Given the description of an element on the screen output the (x, y) to click on. 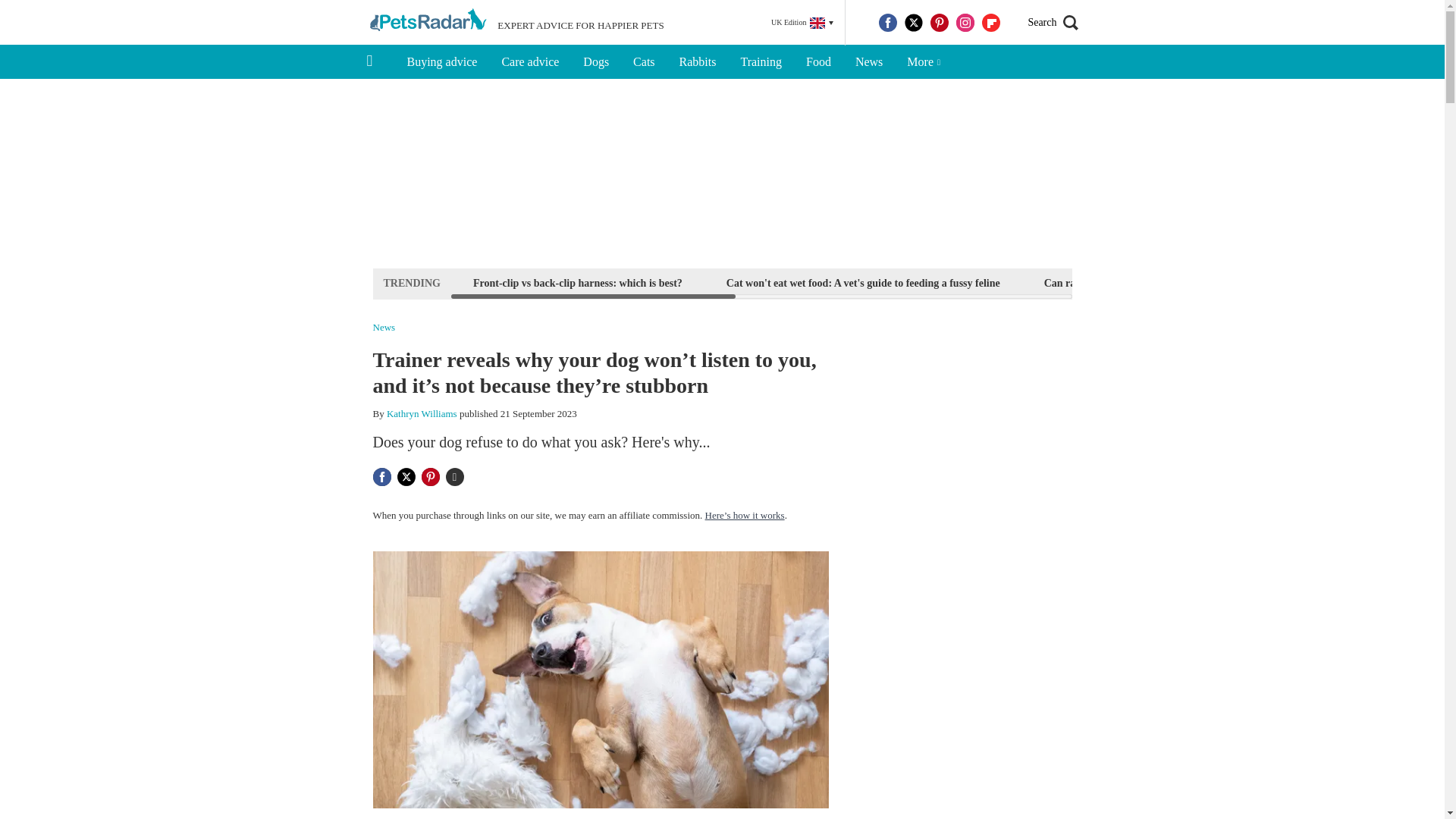
Food (818, 61)
Training (760, 61)
News (869, 61)
10 easy home remedies for fleas on cats (1281, 282)
Can rabbits live alone? (1096, 282)
Kathryn Williams (422, 413)
Front-clip vs back-clip harness: which is best? (577, 282)
Rabbits (697, 61)
Cats (643, 61)
